Given the description of an element on the screen output the (x, y) to click on. 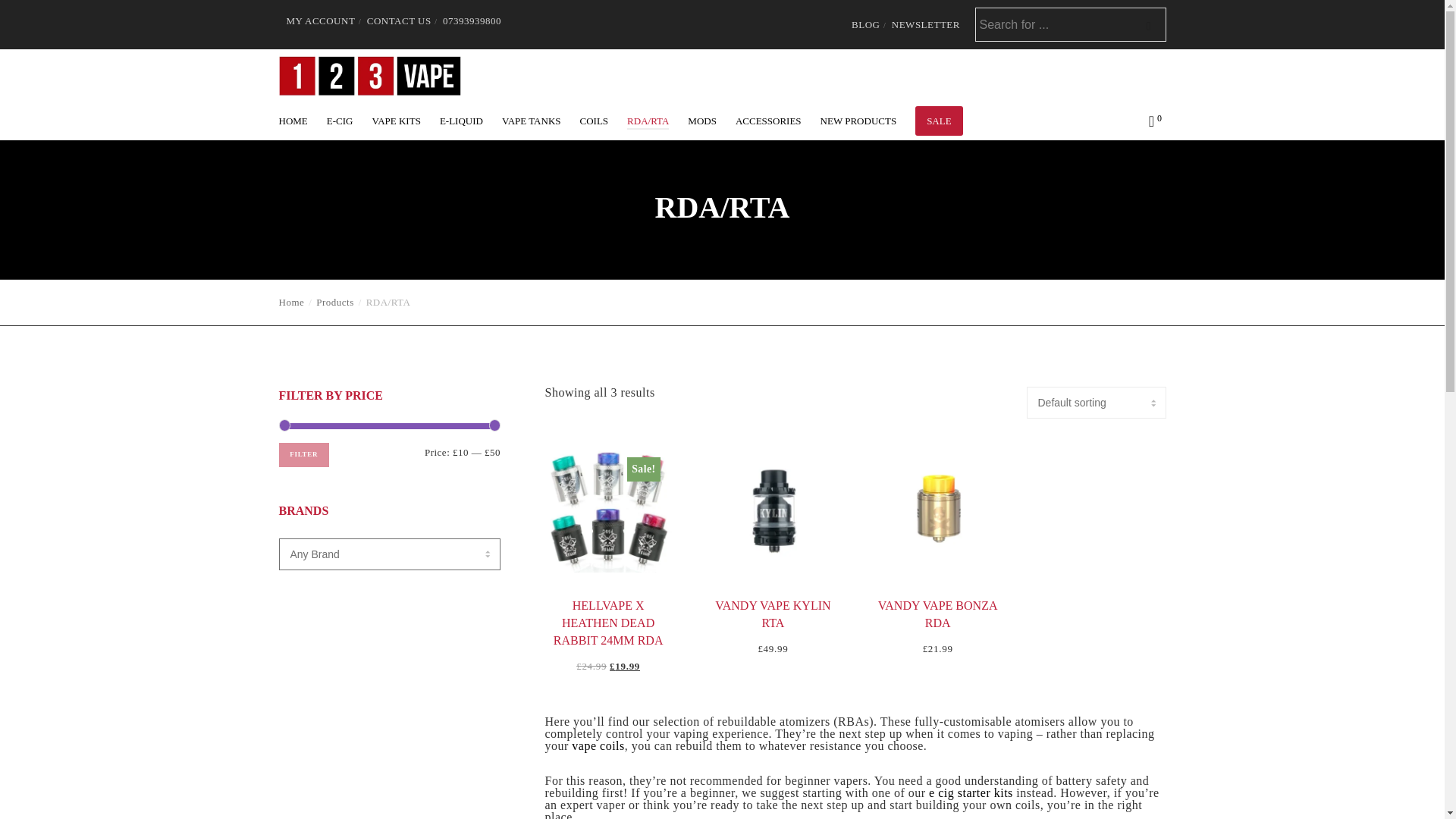
CONTACT US (398, 20)
NEWSLETTER (925, 23)
E-LIQUID (470, 121)
HOME (302, 121)
MY ACCOUNT (320, 20)
E-CIG (349, 121)
07393939800 (471, 20)
VAPE KITS (405, 121)
BLOG (865, 23)
